Given the description of an element on the screen output the (x, y) to click on. 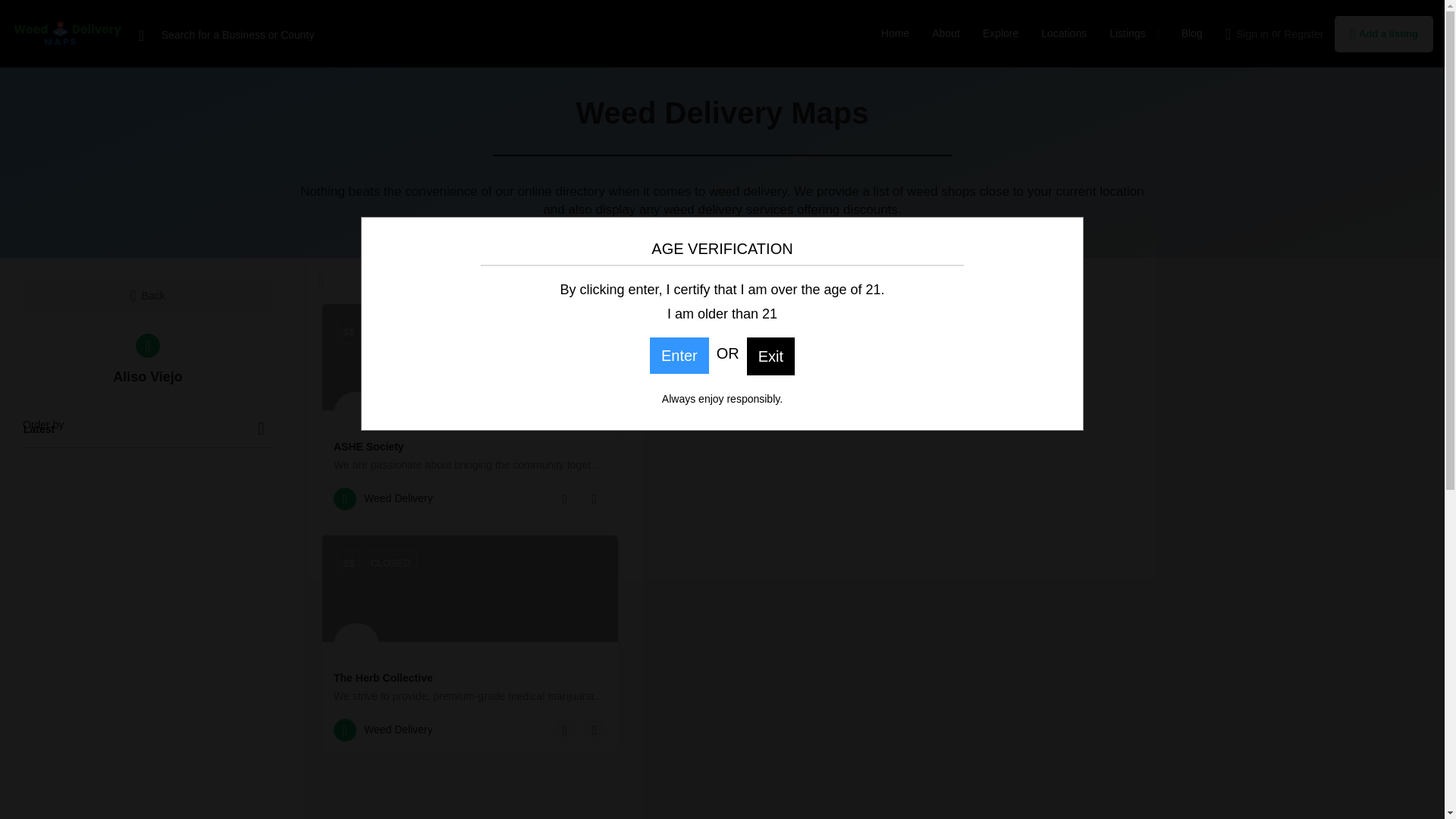
Weed Delivery (382, 498)
Exit (770, 356)
Listings (1126, 32)
Explore (999, 32)
Weed Delivery (382, 730)
Locations (1063, 32)
Register (1303, 33)
Exit (770, 357)
Blog (1191, 32)
About (945, 32)
Home (894, 32)
Back (148, 295)
Add a listing (1383, 33)
Latest (148, 429)
Sign in (1252, 33)
